Given the description of an element on the screen output the (x, y) to click on. 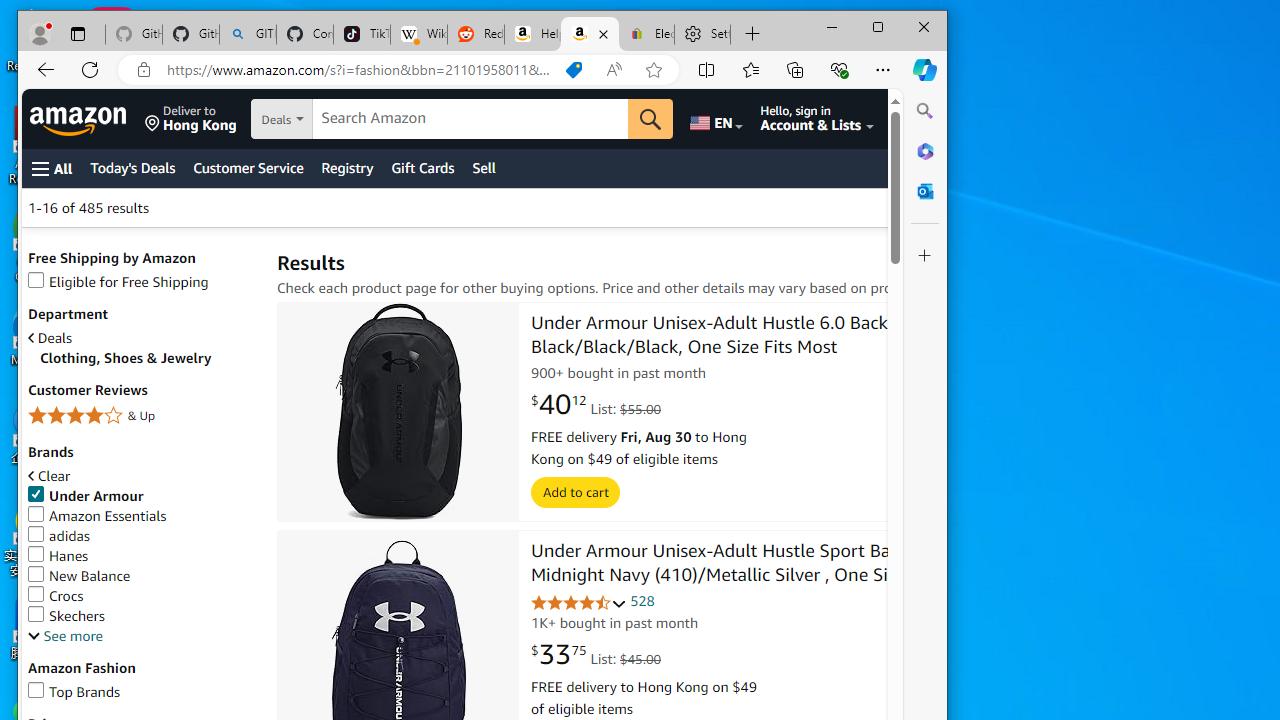
Customer Service (248, 168)
Amazon Essentials (97, 516)
Open Menu (52, 168)
Add to cart (575, 493)
Amazon (80, 119)
New Balance (142, 576)
4 Stars & Up (142, 416)
Top Brands (74, 691)
Choose a language for shopping. (715, 119)
Wikipedia, the free encyclopedia (418, 34)
